Given the description of an element on the screen output the (x, y) to click on. 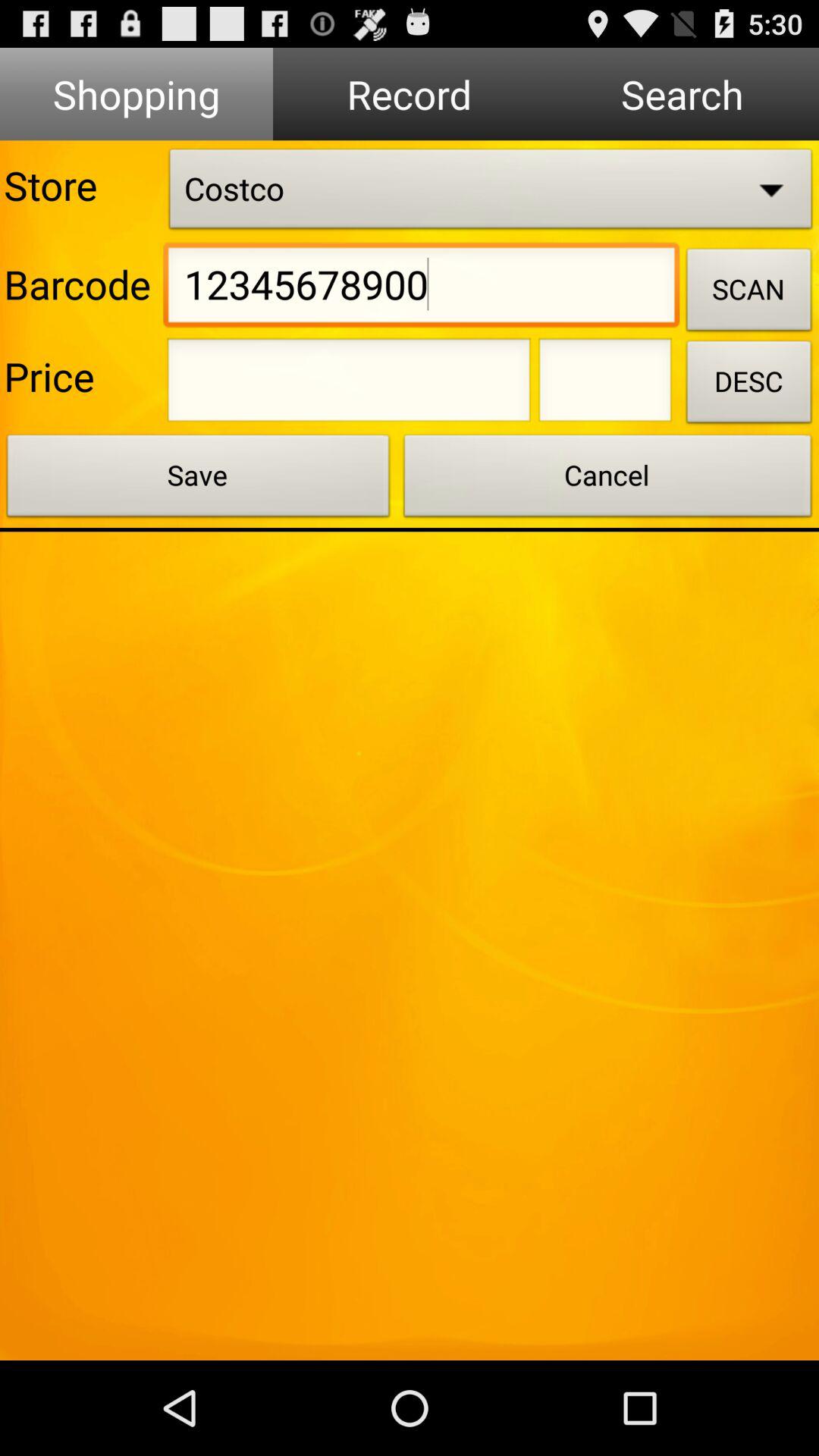
enter price (348, 384)
